Given the description of an element on the screen output the (x, y) to click on. 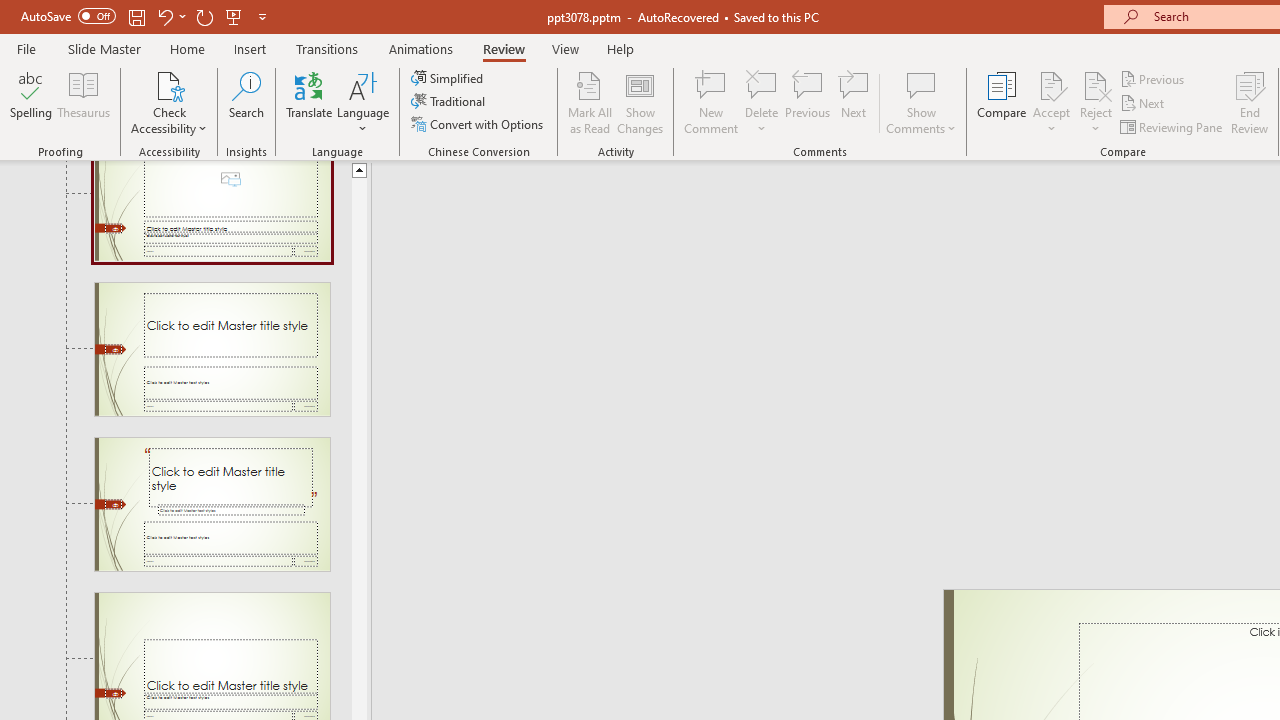
Slide Master (104, 48)
End Review (1249, 102)
Reject Change (1096, 84)
